Given the description of an element on the screen output the (x, y) to click on. 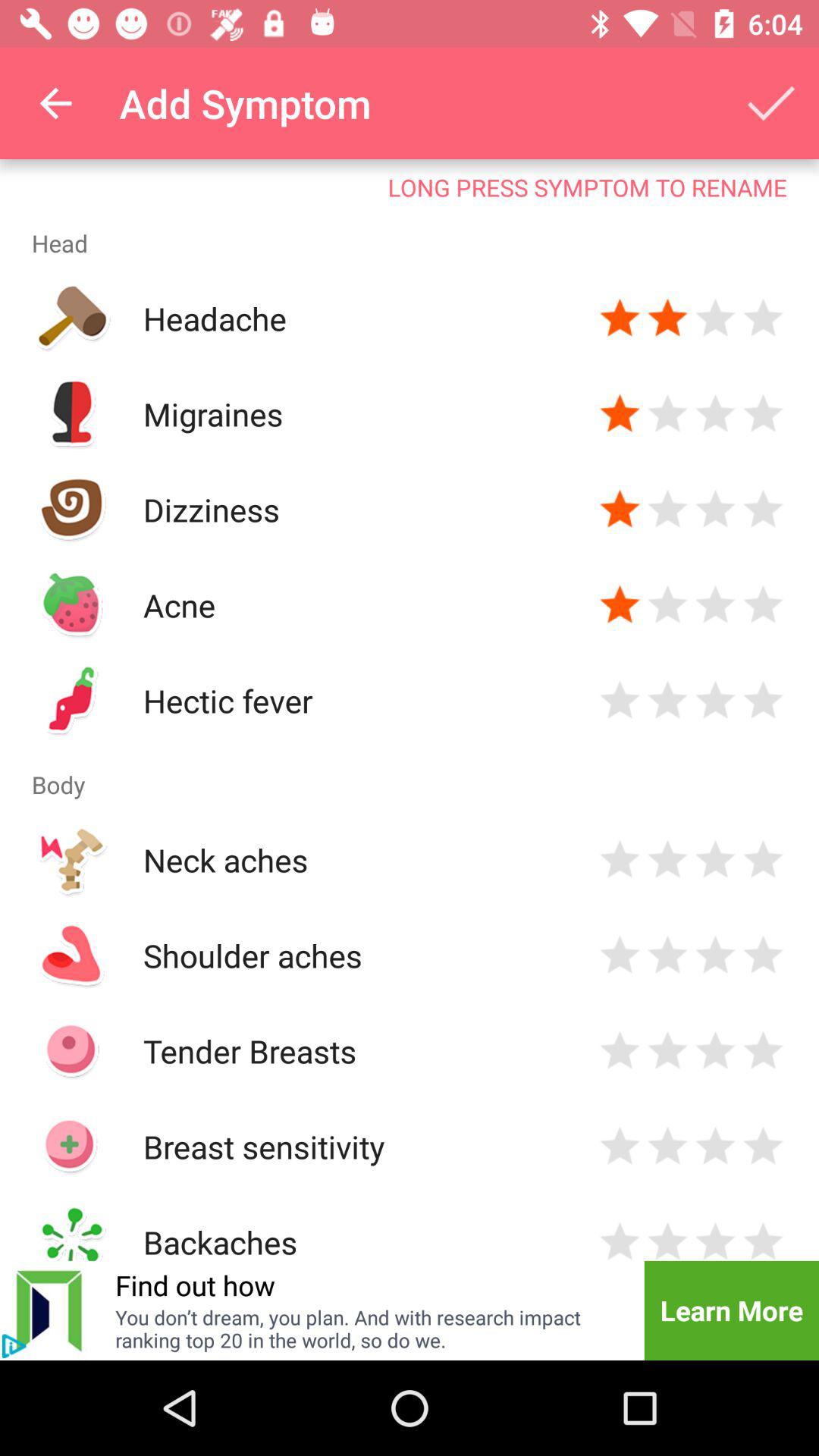
enter stars rating (715, 1050)
